Given the description of an element on the screen output the (x, y) to click on. 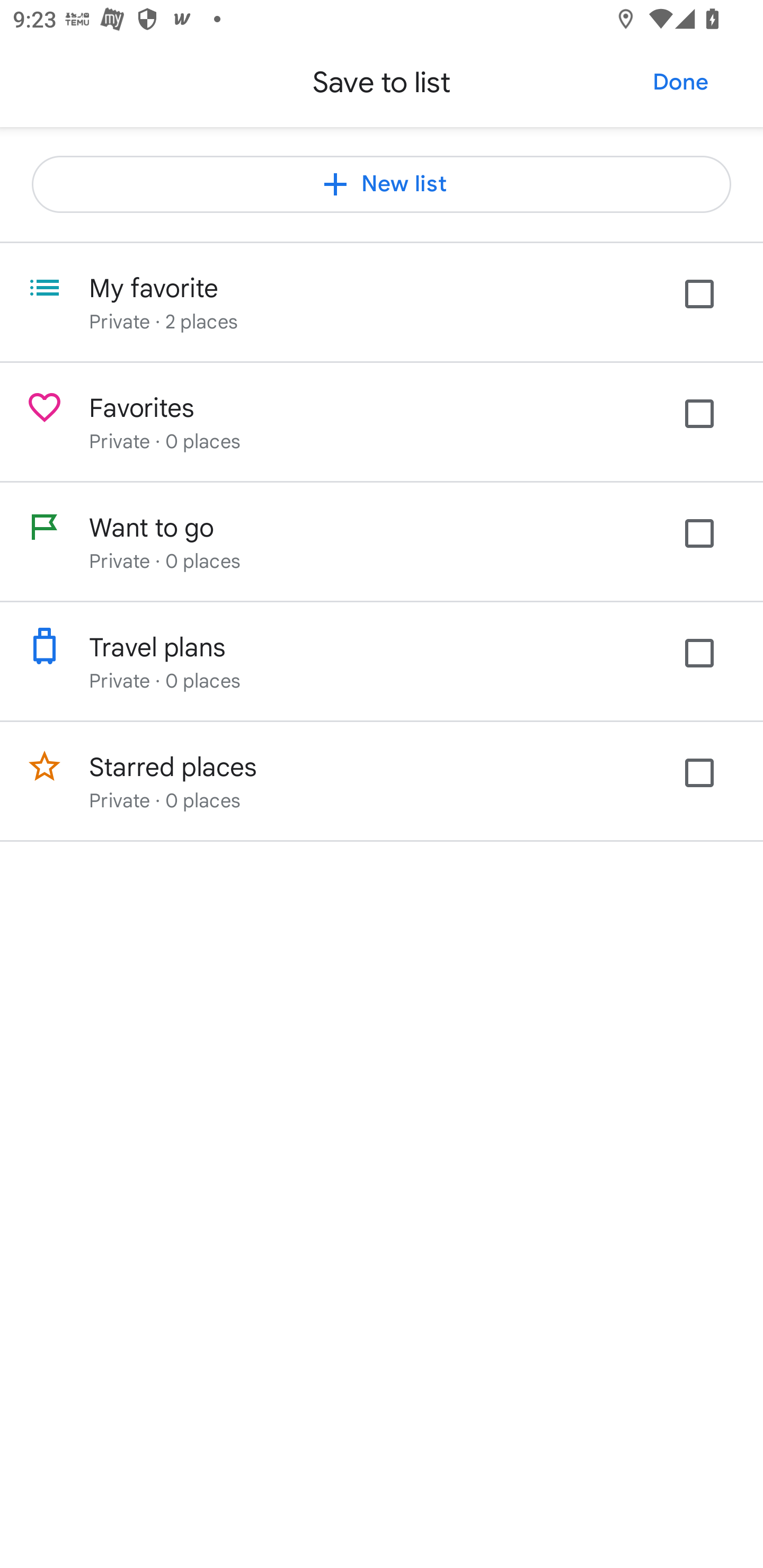
Done (680, 81)
New list (381, 183)
